Given the description of an element on the screen output the (x, y) to click on. 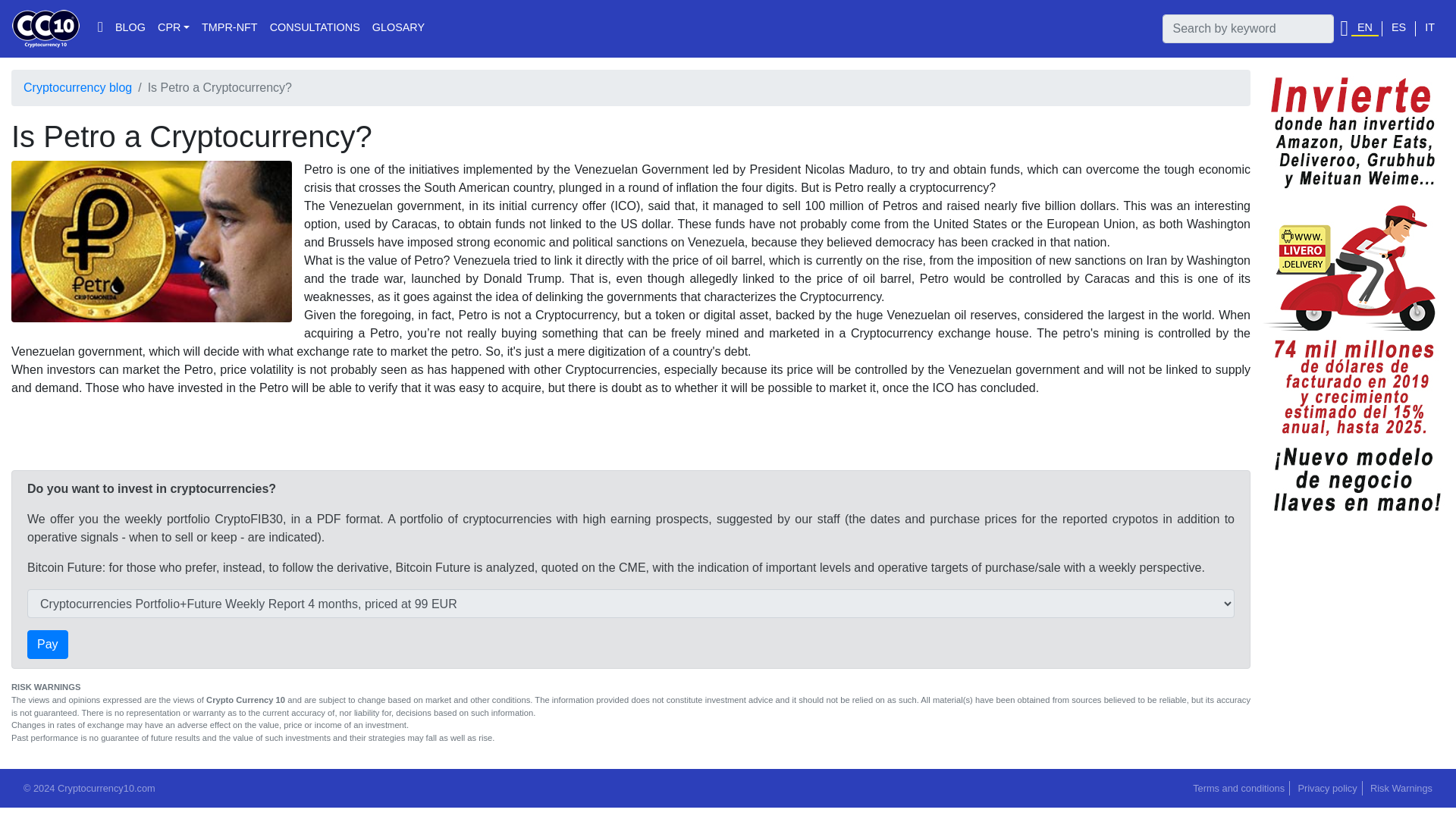
CPR (173, 28)
Terms and conditions (1238, 787)
Risk Warnings (1401, 787)
IT (1429, 28)
TMPR-NFT (229, 28)
Cryptocurrency10.com (45, 28)
GLOSARY (398, 28)
CONSULTATIONS (314, 28)
ES (1399, 28)
Cryptocurrency blog (77, 87)
Privacy policy (1326, 787)
Pay (47, 644)
BLOG (130, 28)
EN (1364, 28)
Cryptocurrencies Public Register (173, 28)
